Given the description of an element on the screen output the (x, y) to click on. 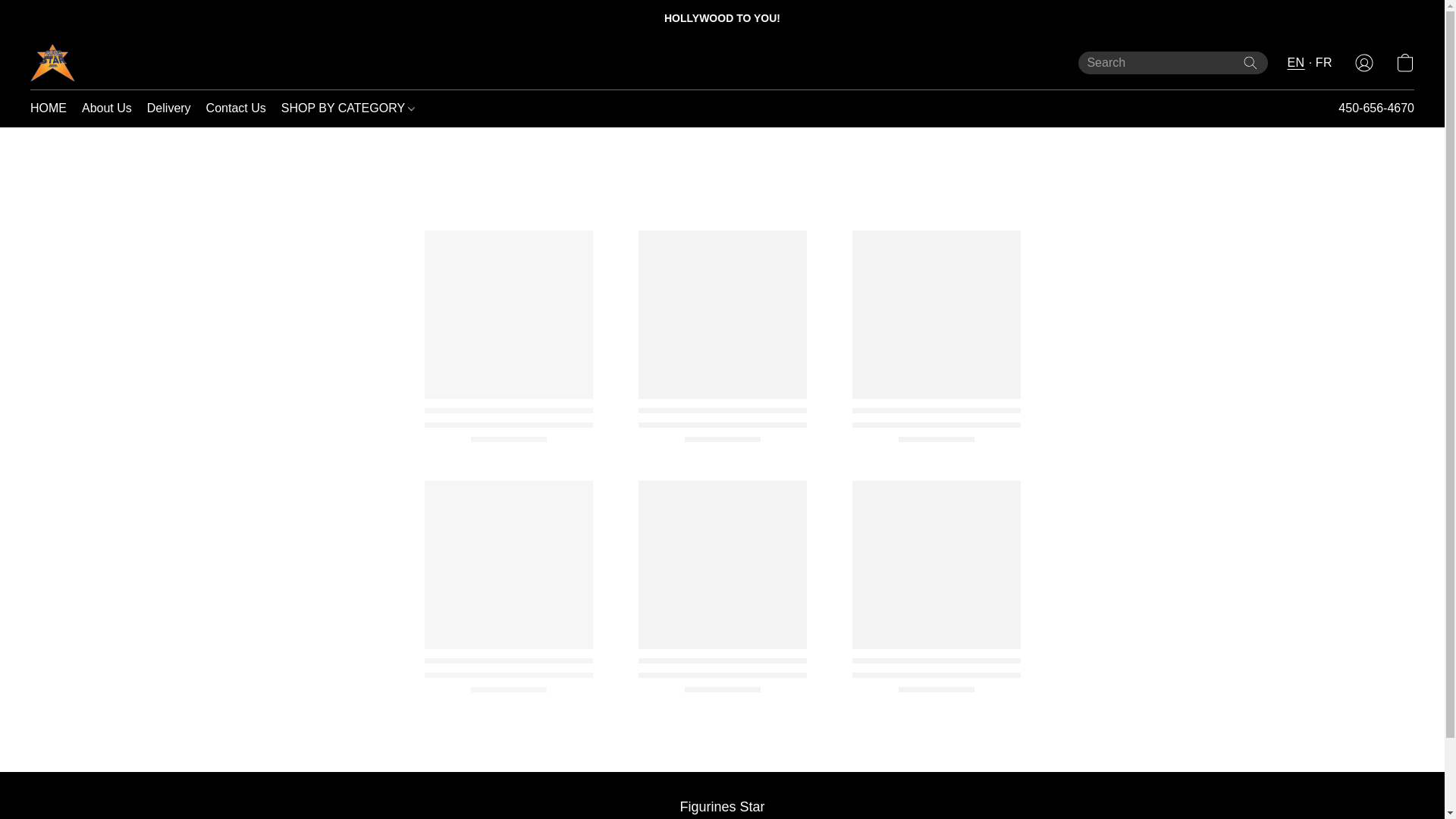
450-656-4670 (1375, 107)
Contact Us (235, 108)
About Us (106, 108)
Go to your shopping cart (1404, 62)
Delivery (168, 108)
SHOP BY CATEGORY (344, 108)
HOME (52, 108)
